Given the description of an element on the screen output the (x, y) to click on. 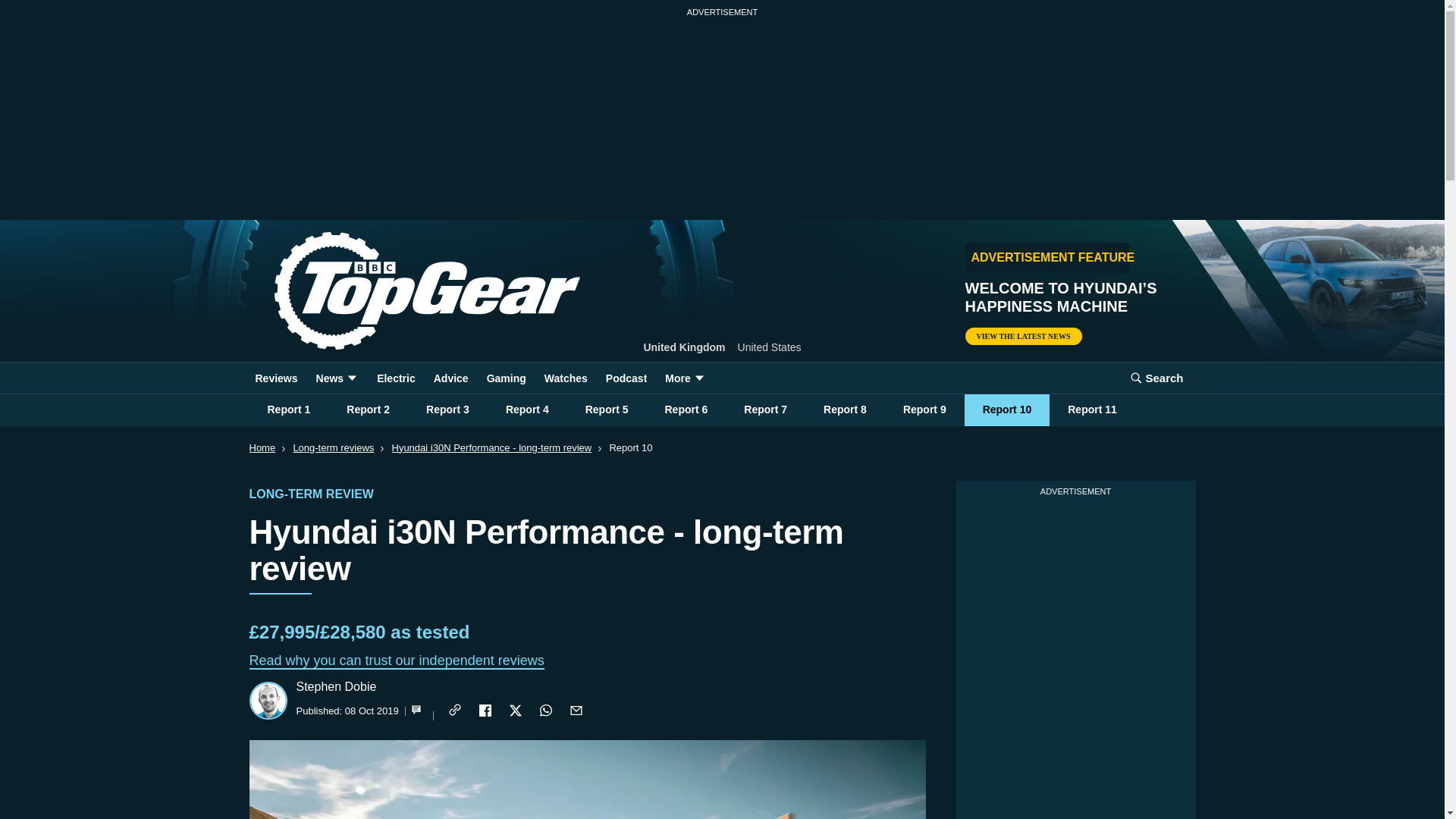
More (685, 377)
Report 4 (527, 409)
Report 3 (447, 409)
Podcast (625, 377)
Watches (566, 377)
Reviews (275, 377)
Report 5 (606, 409)
United States (770, 347)
Report 2 (368, 409)
Report 1 (288, 409)
